Given the description of an element on the screen output the (x, y) to click on. 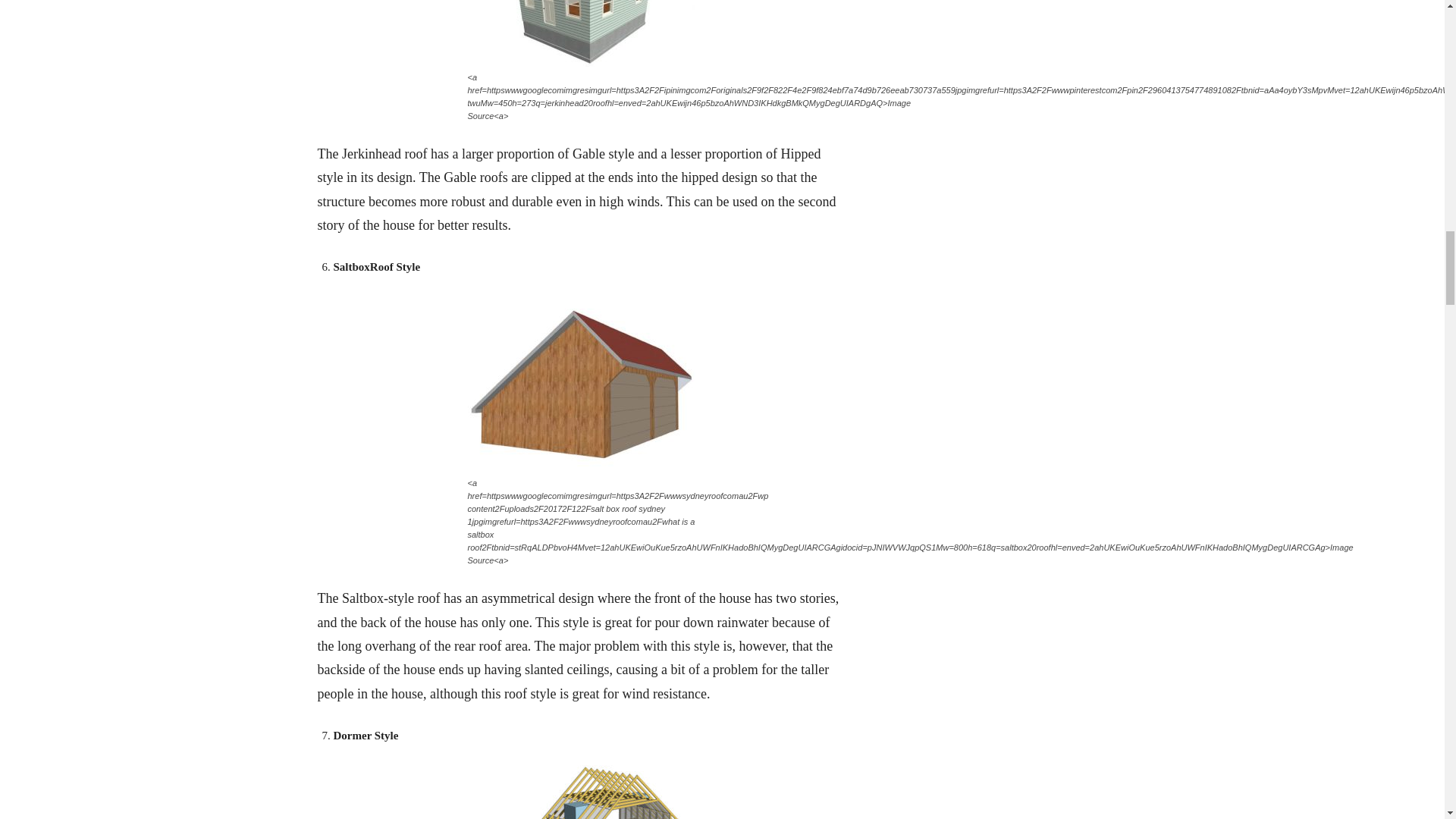
9f824ebf7a74d9b726eeab730737a559 - A Best Fashion (580, 33)
